Given the description of an element on the screen output the (x, y) to click on. 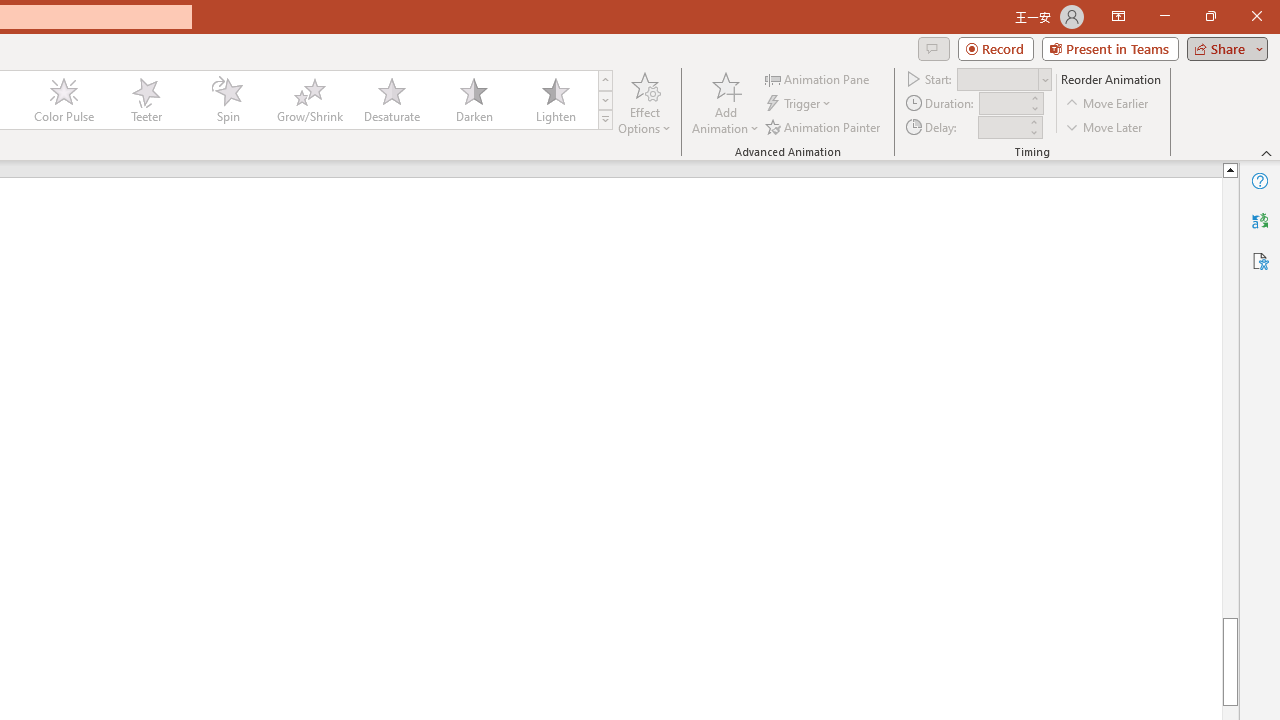
Move Later (1105, 126)
Animation Duration (1003, 103)
Spin (227, 100)
Move Earlier (1107, 103)
Add Animation (725, 102)
